Given the description of an element on the screen output the (x, y) to click on. 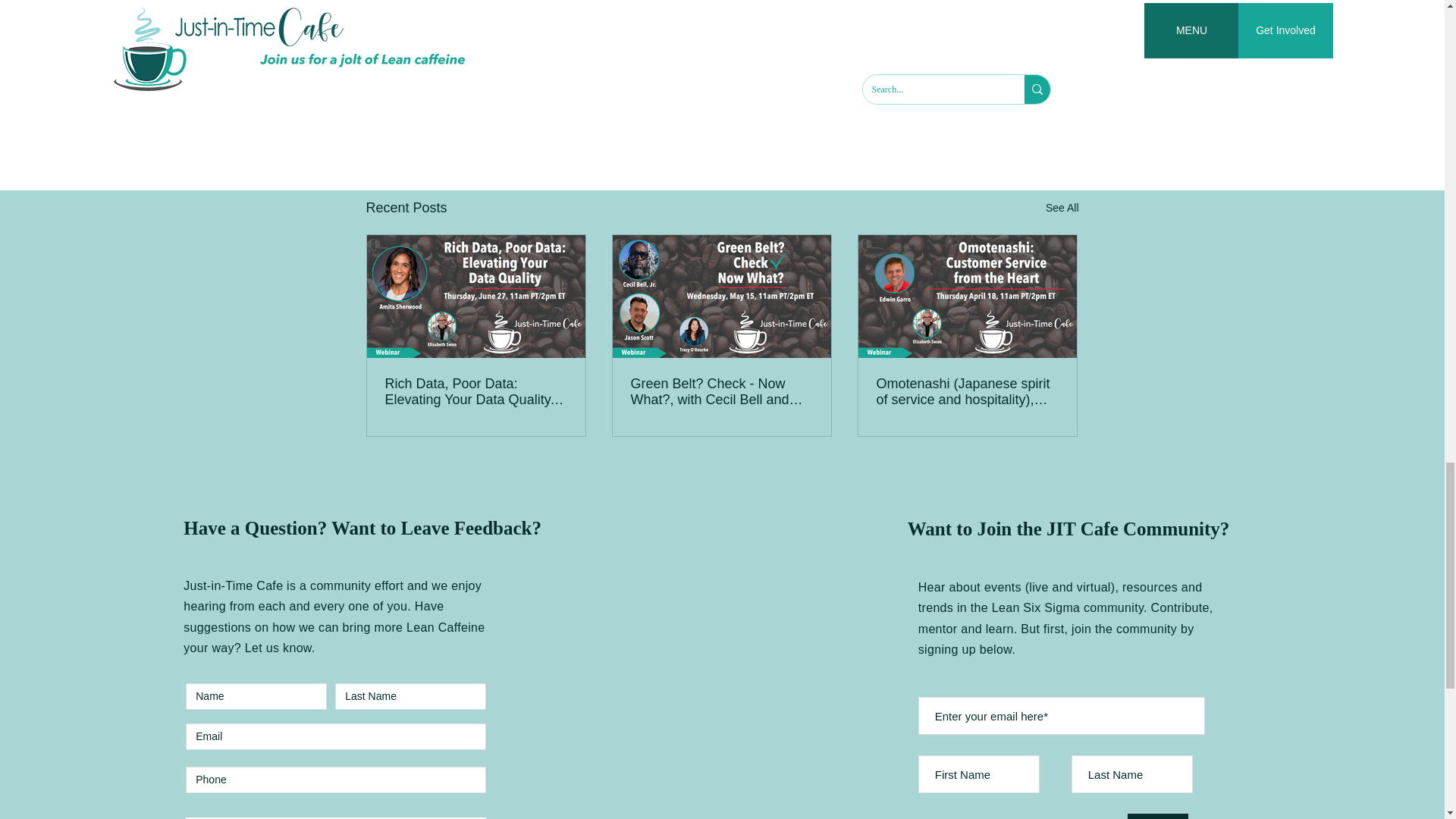
See All (1061, 208)
Webinars (980, 110)
Join (1157, 816)
